Given the description of an element on the screen output the (x, y) to click on. 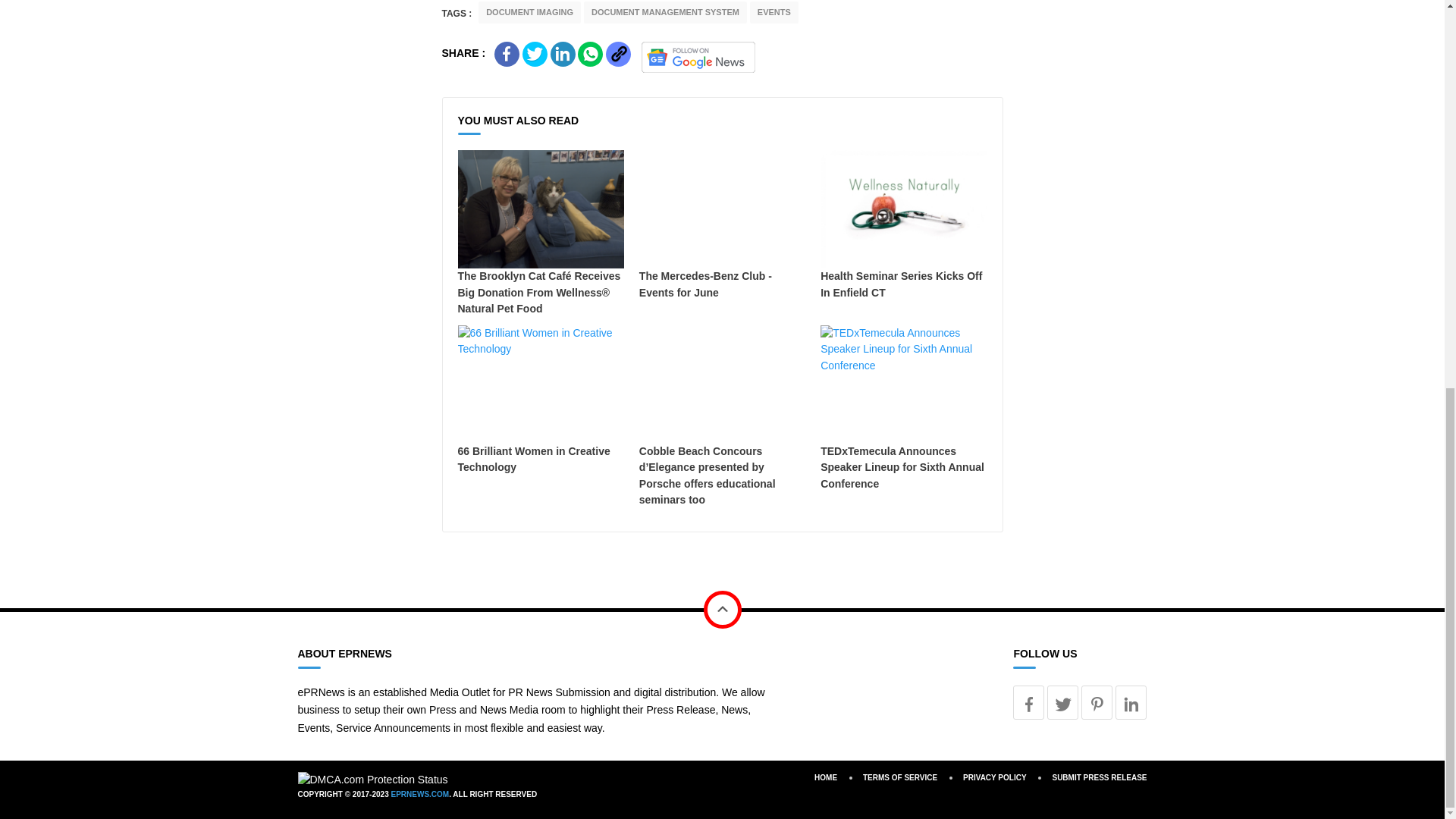
DMCA.com Protection Status (371, 779)
Facebook (1028, 701)
Share on Twitter (534, 53)
Copy Link (617, 53)
Twitter (1062, 701)
Share on Whatsapp (590, 53)
EVENTS (773, 12)
DOCUMENT MANAGEMENT SYSTEM (664, 12)
Share on Facebook (507, 53)
Pinterest (1096, 701)
Linkedin (1130, 701)
DOCUMENT IMAGING (529, 12)
Share on Linkedin (562, 53)
